Given the description of an element on the screen output the (x, y) to click on. 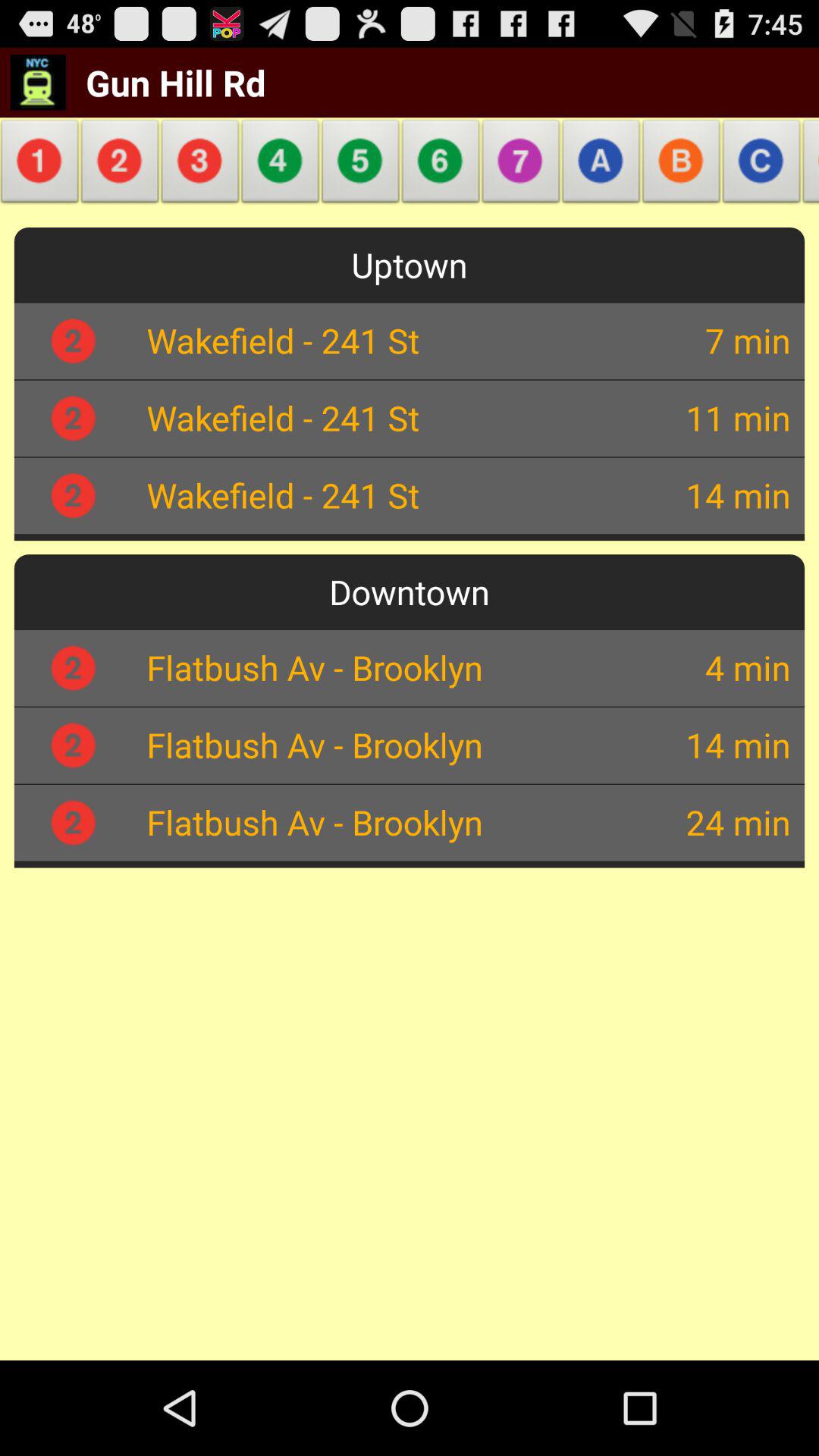
tap the item below gun hill rd (42, 165)
